Given the description of an element on the screen output the (x, y) to click on. 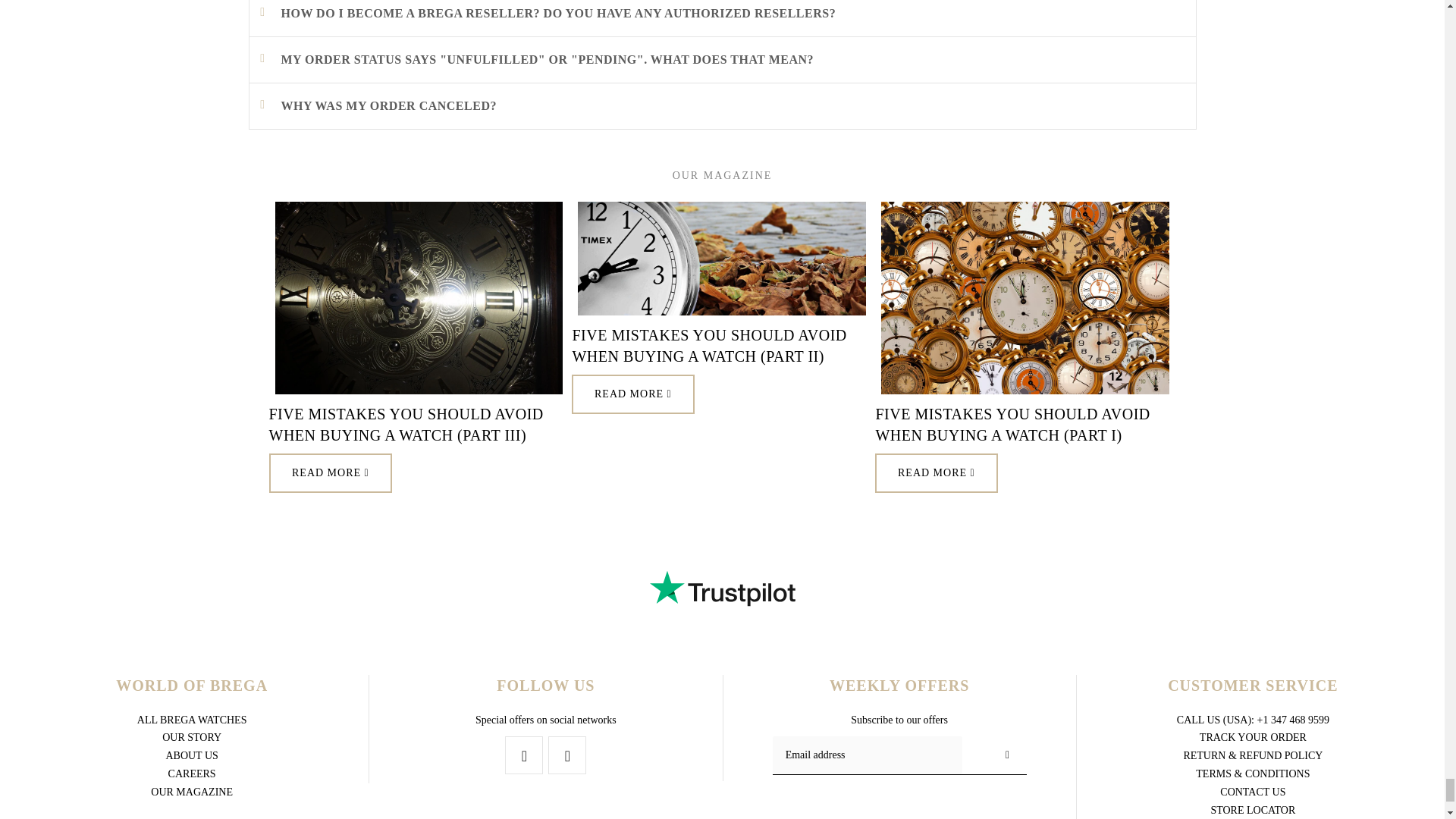
Facebook (524, 754)
Customer reviews powered by Trustpilot (721, 588)
Instagram (567, 754)
